Given the description of an element on the screen output the (x, y) to click on. 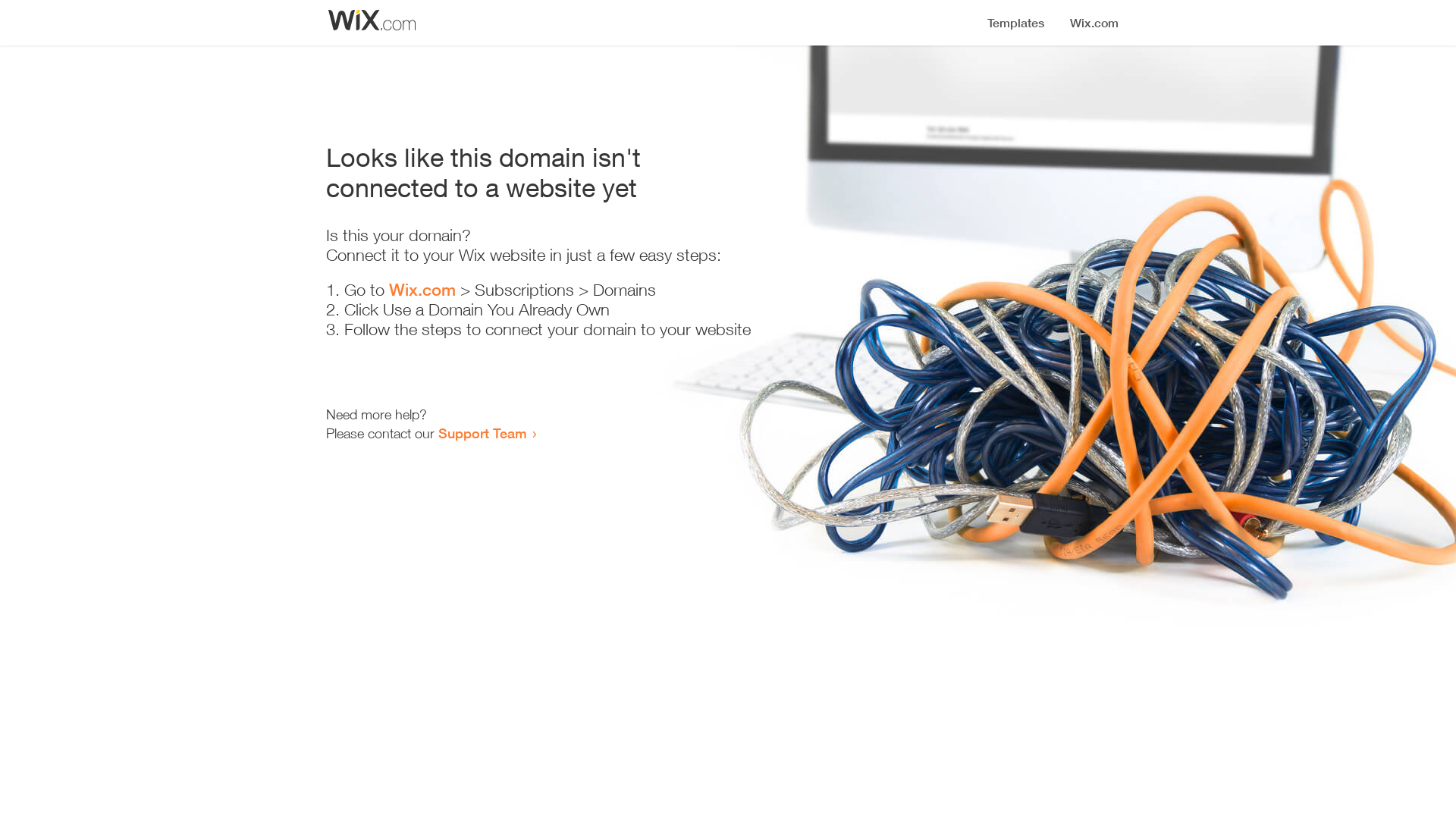
Wix.com Element type: text (422, 289)
Support Team Element type: text (482, 432)
